Given the description of an element on the screen output the (x, y) to click on. 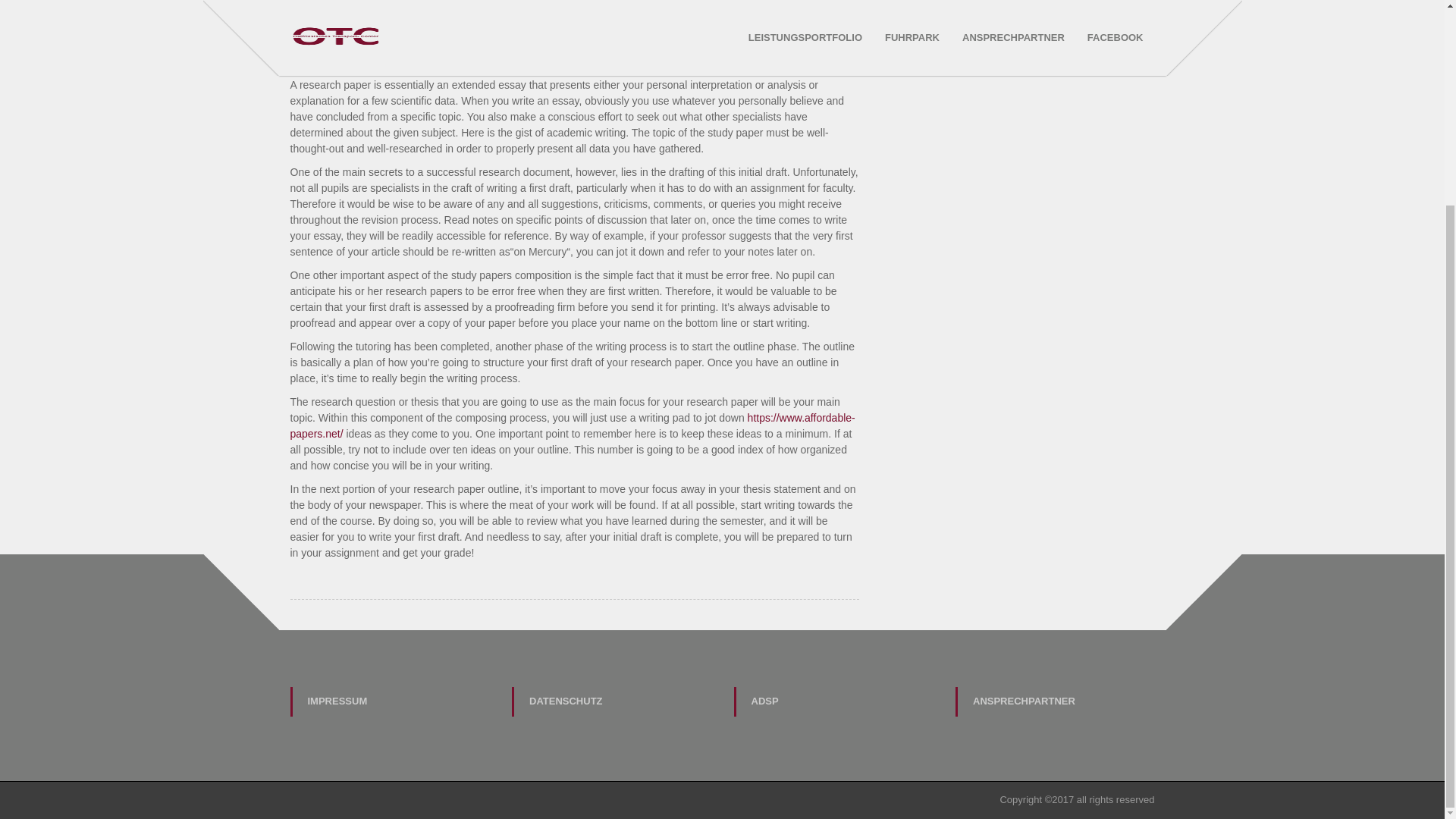
Allgemein (462, 25)
Jan Peters (404, 25)
DATENSCHUTZ (612, 701)
Jan Peters (404, 25)
ADSP (834, 701)
ANSPRECHPARTNER (1056, 701)
View all posts in category: Allgemein (462, 25)
IMPRESSUM (390, 701)
